Given the description of an element on the screen output the (x, y) to click on. 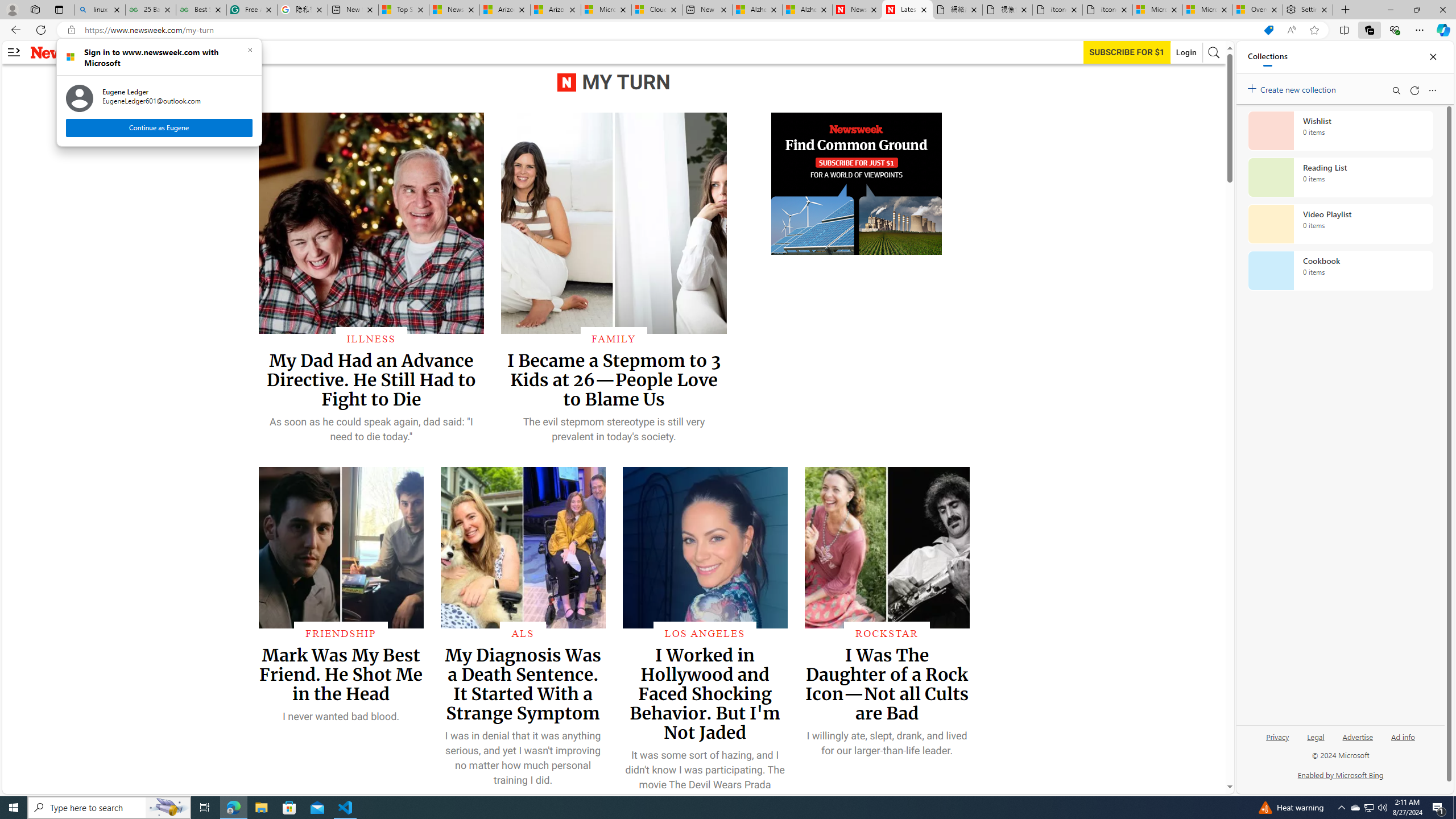
Microsoft Store (289, 807)
Ad info (1368, 807)
AutomationID: search-btn (1402, 741)
FAMILY (1213, 51)
linux basic - Search (613, 338)
Start (99, 9)
Create new collection (13, 807)
